Given the description of an element on the screen output the (x, y) to click on. 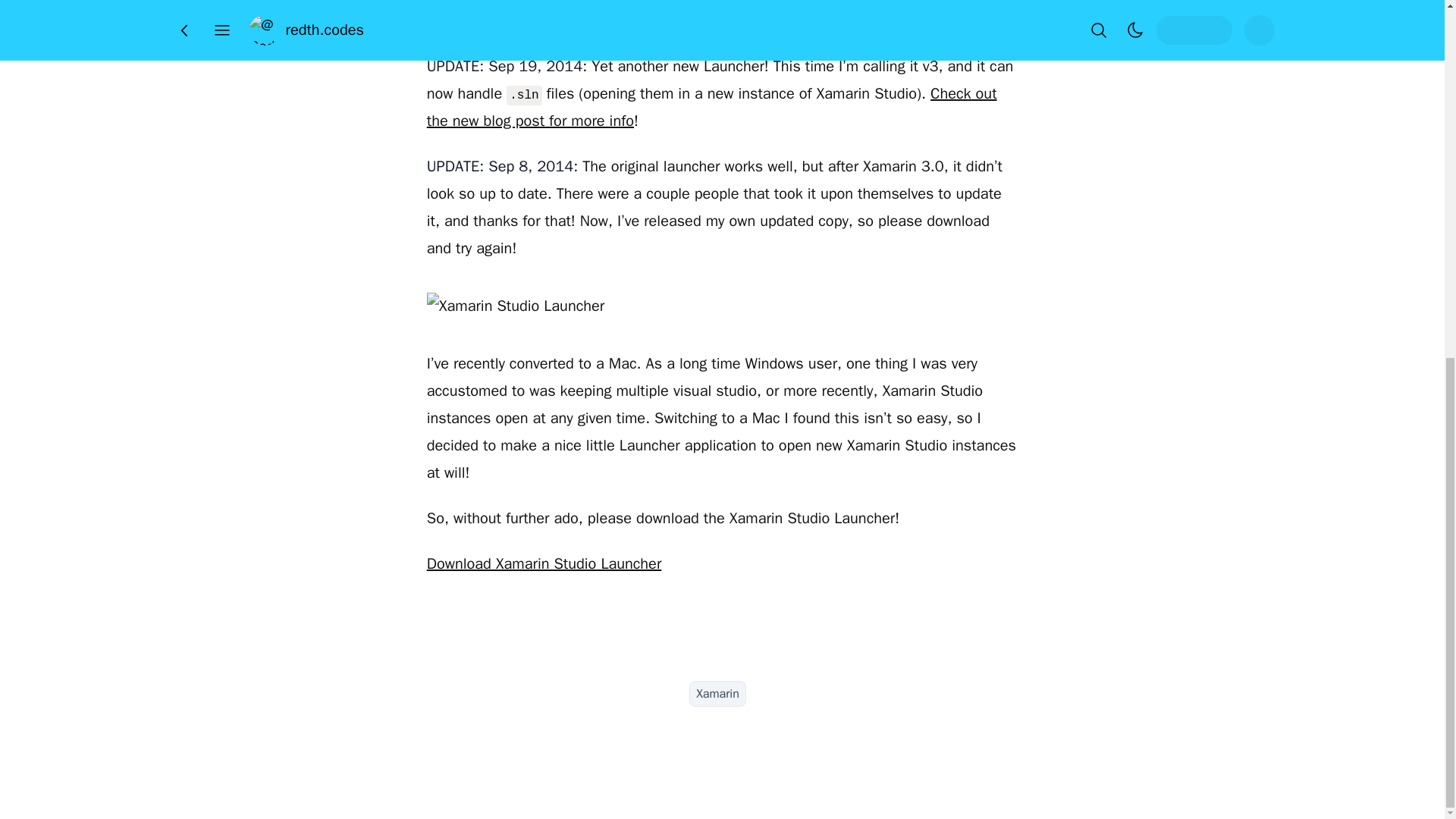
Check out the new blog post for more info (711, 107)
May 31, 2013 (725, 7)
Download Xamarin Studio Launcher (544, 563)
Xamarin (716, 693)
